Given the description of an element on the screen output the (x, y) to click on. 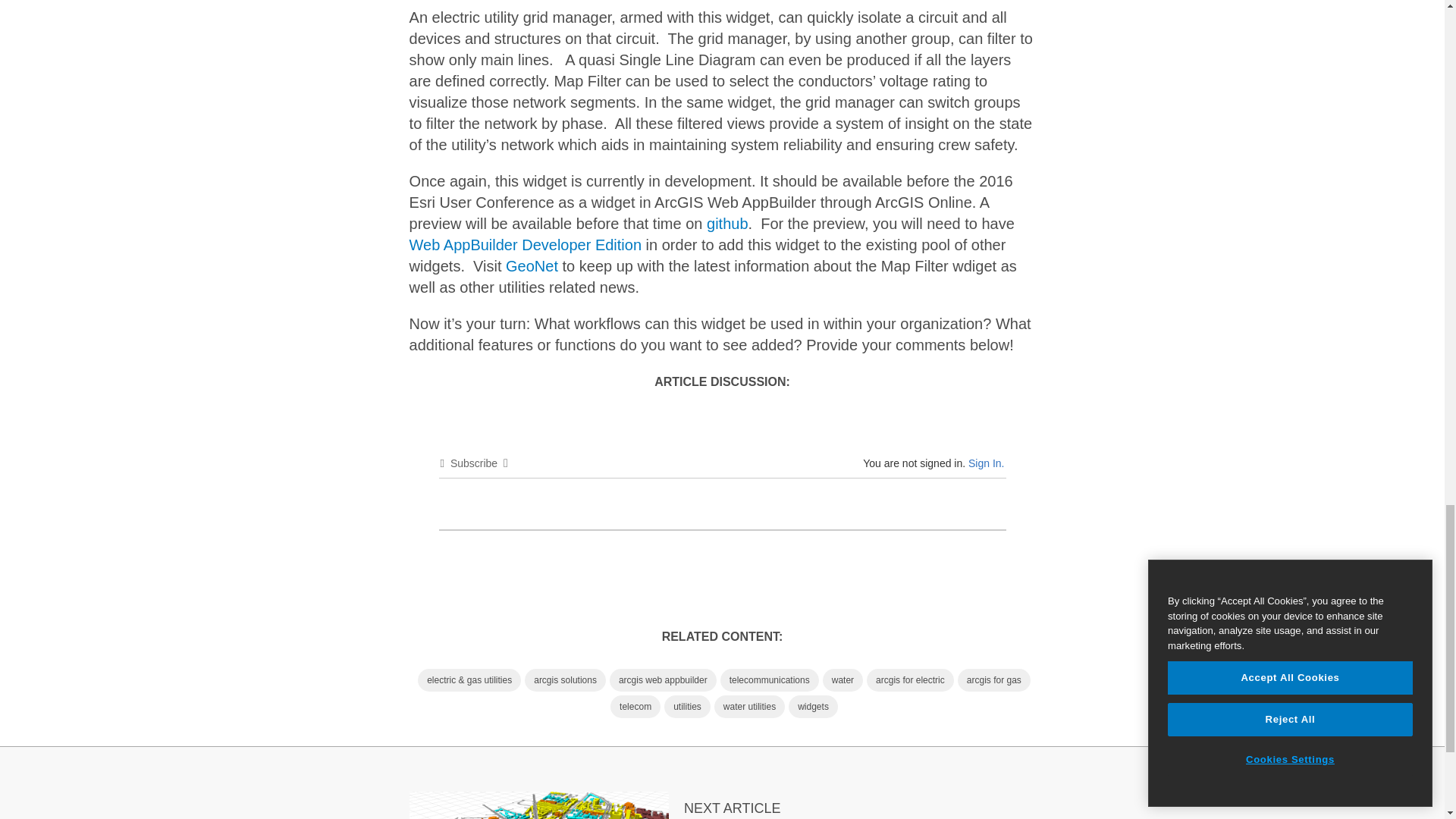
Github (727, 223)
arcgis for gas (994, 680)
arcgis web appbuilder (663, 680)
GeoNet (531, 265)
water utilities (749, 706)
utilities (686, 706)
water (842, 680)
Web AppBuilder Dev Edition (525, 244)
widgets (813, 706)
Sign In. (986, 463)
telecommunications (769, 680)
arcgis for electric (909, 680)
github (727, 223)
telecom (635, 706)
Web AppBuilder Developer Edition (525, 244)
